Given the description of an element on the screen output the (x, y) to click on. 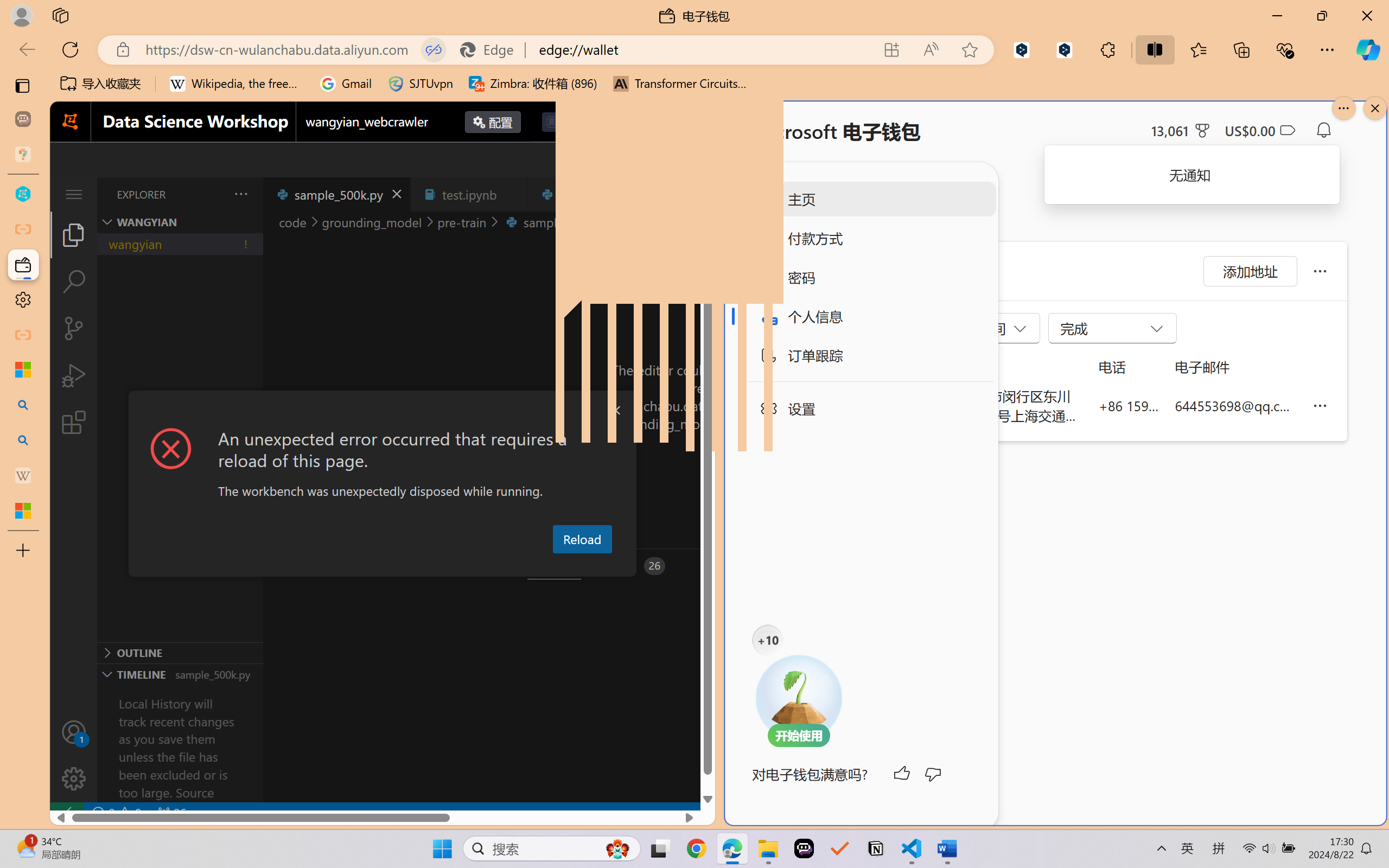
Class: actions-container (381, 410)
Notebook (588, 121)
Close Dialog (615, 410)
sample_500k.py (336, 194)
Close (Ctrl+F4) (644, 194)
Debug Console (Ctrl+Shift+Y) (463, 565)
644553698@qq.com (1235, 405)
Reload (581, 538)
